Given the description of an element on the screen output the (x, y) to click on. 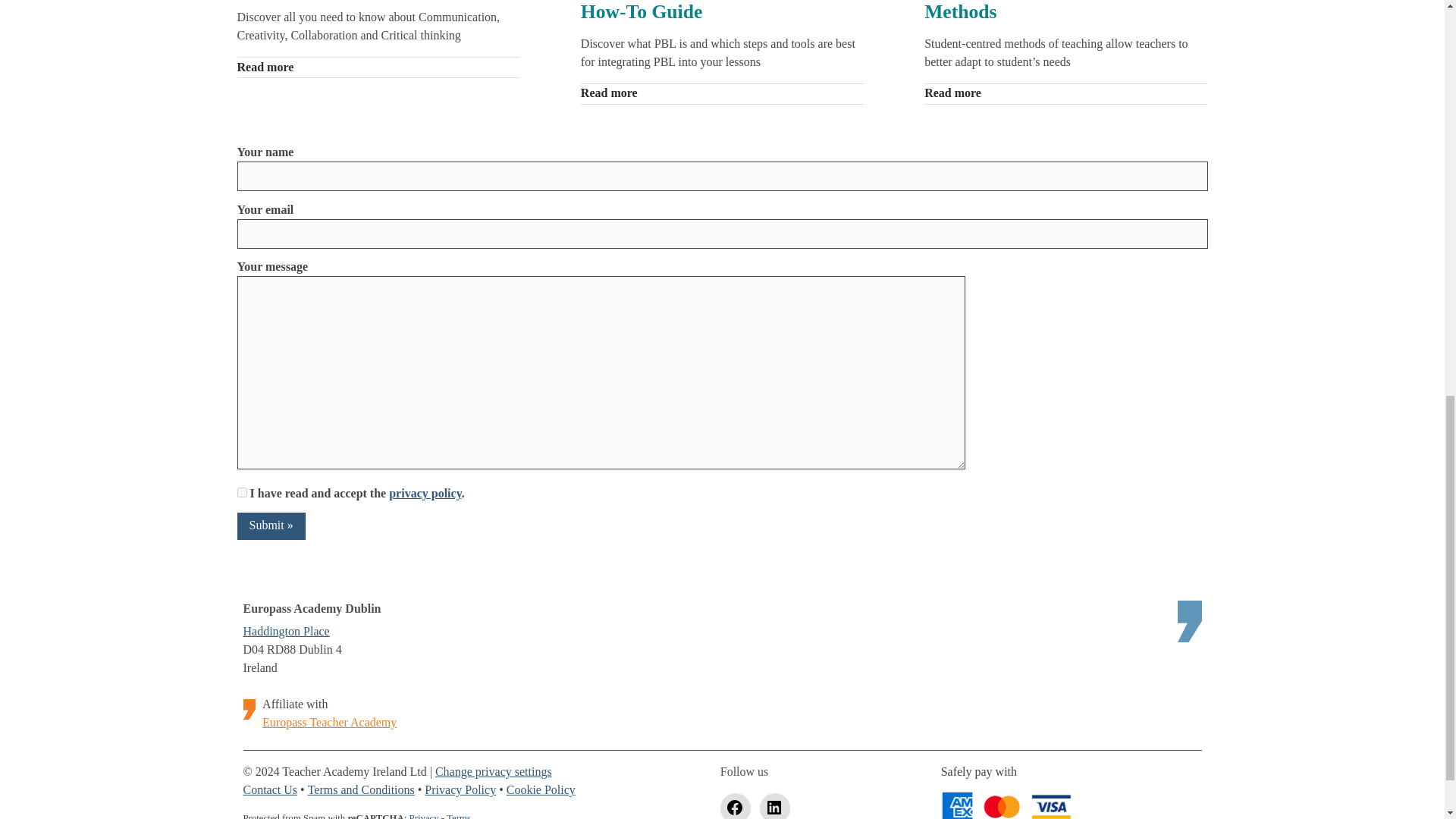
Terms and Conditions (360, 790)
Haddington Place (286, 631)
Change privacy settings (493, 772)
Linkedin (775, 806)
1 (240, 492)
privacy policy (424, 494)
Cookie Policy (540, 790)
Terms (458, 816)
Contact Us (270, 790)
Privacy (424, 816)
Europass Teacher Academy (329, 723)
Privacy Policy (460, 790)
Facebook (735, 806)
